Given the description of an element on the screen output the (x, y) to click on. 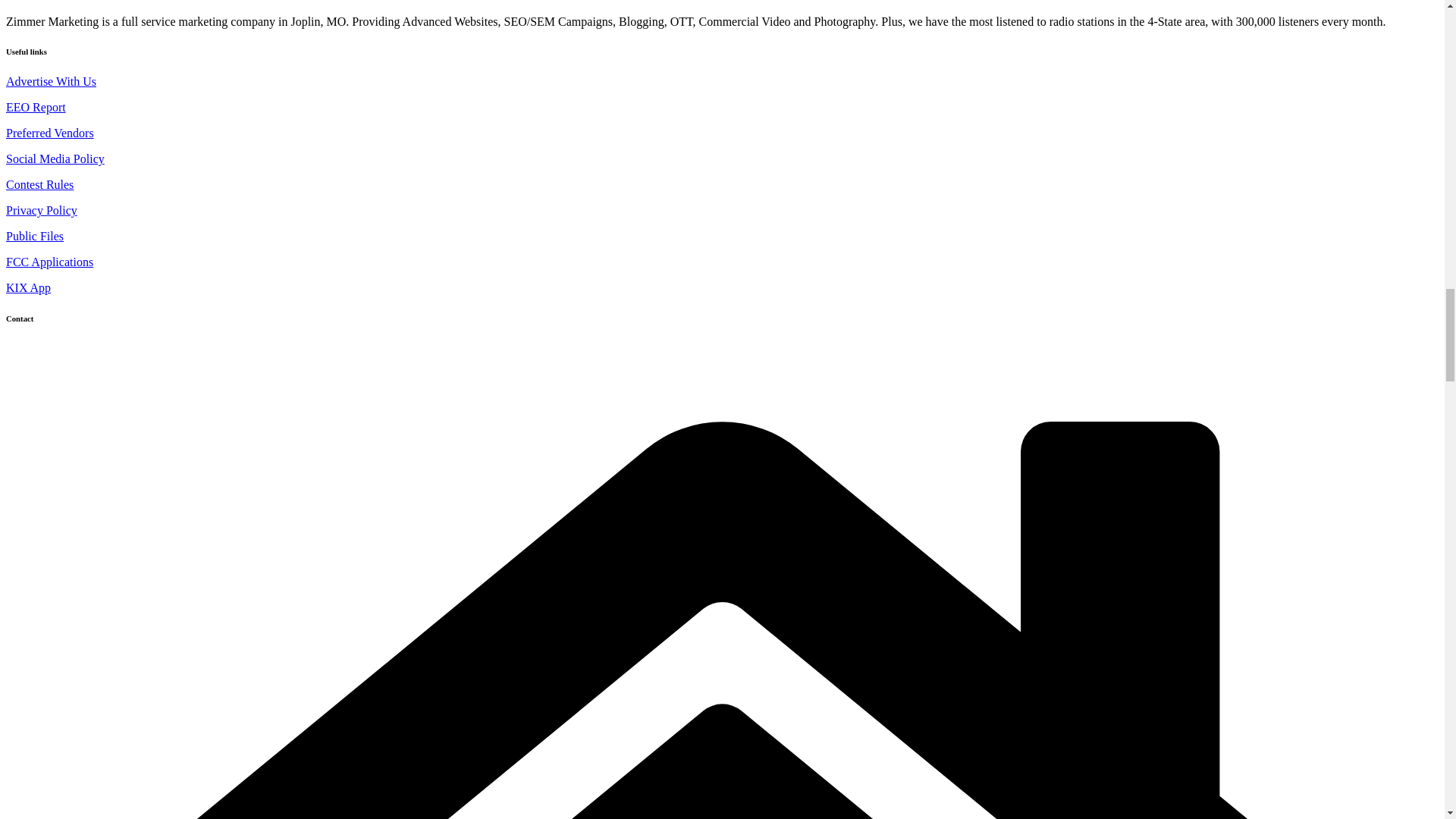
EEO Report (35, 106)
Advertise With Us (50, 81)
Preferred Vendors (49, 132)
